Given the description of an element on the screen output the (x, y) to click on. 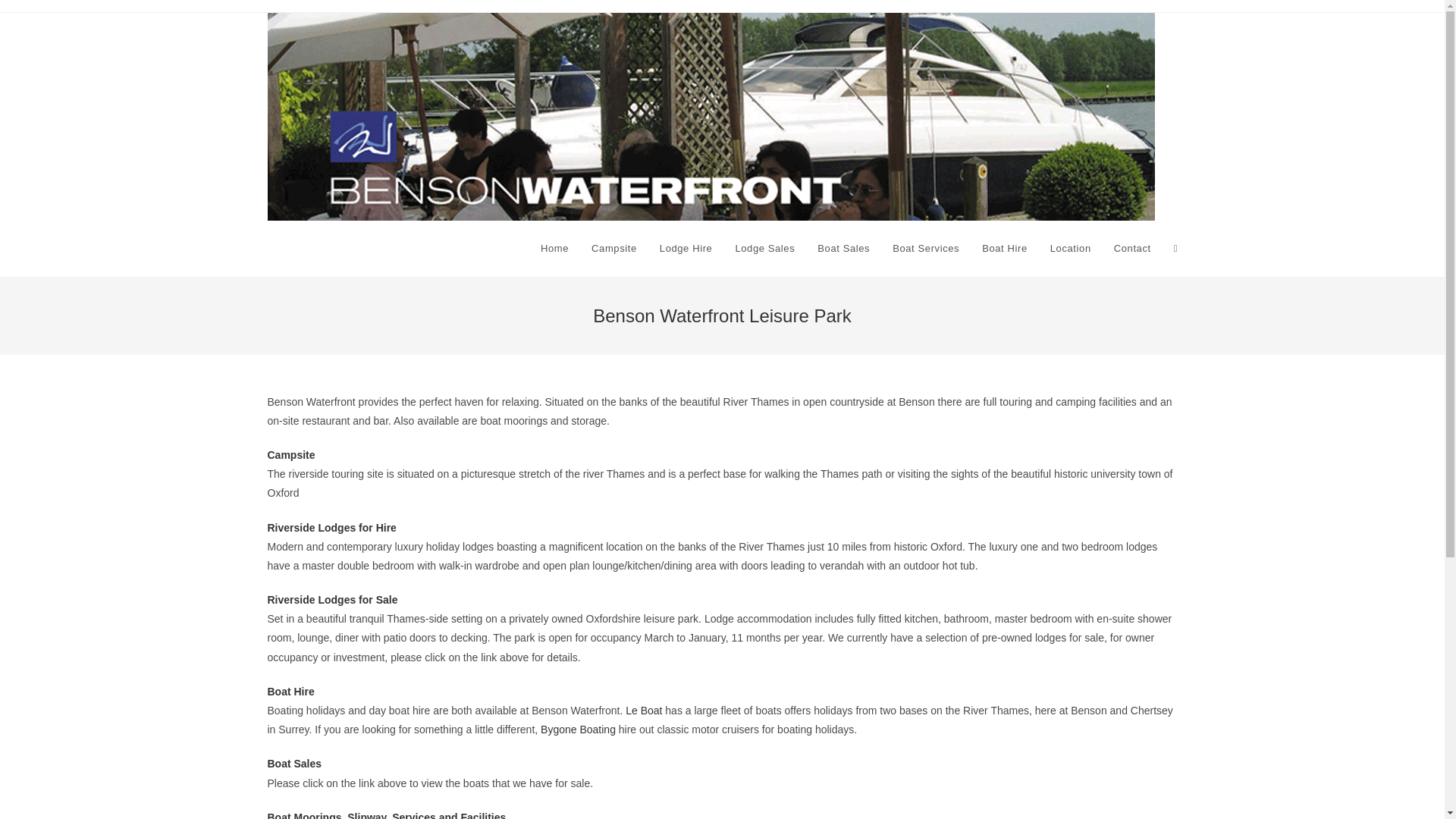
Boat Hire (1005, 248)
Bygone Boating (577, 729)
Boat Services (925, 248)
Boat Moorings, Slipway, Services and Facilities (385, 815)
Riverside Lodges for Sale (331, 599)
Boat Sales (293, 763)
Campsite (613, 248)
Home (554, 248)
Riverside Lodges for Hire (331, 527)
Contact (1131, 248)
Lodge Hire (685, 248)
Le Boat (644, 710)
Campsite (290, 454)
Boat Sales (843, 248)
Lodge Sales (764, 248)
